Given the description of an element on the screen output the (x, y) to click on. 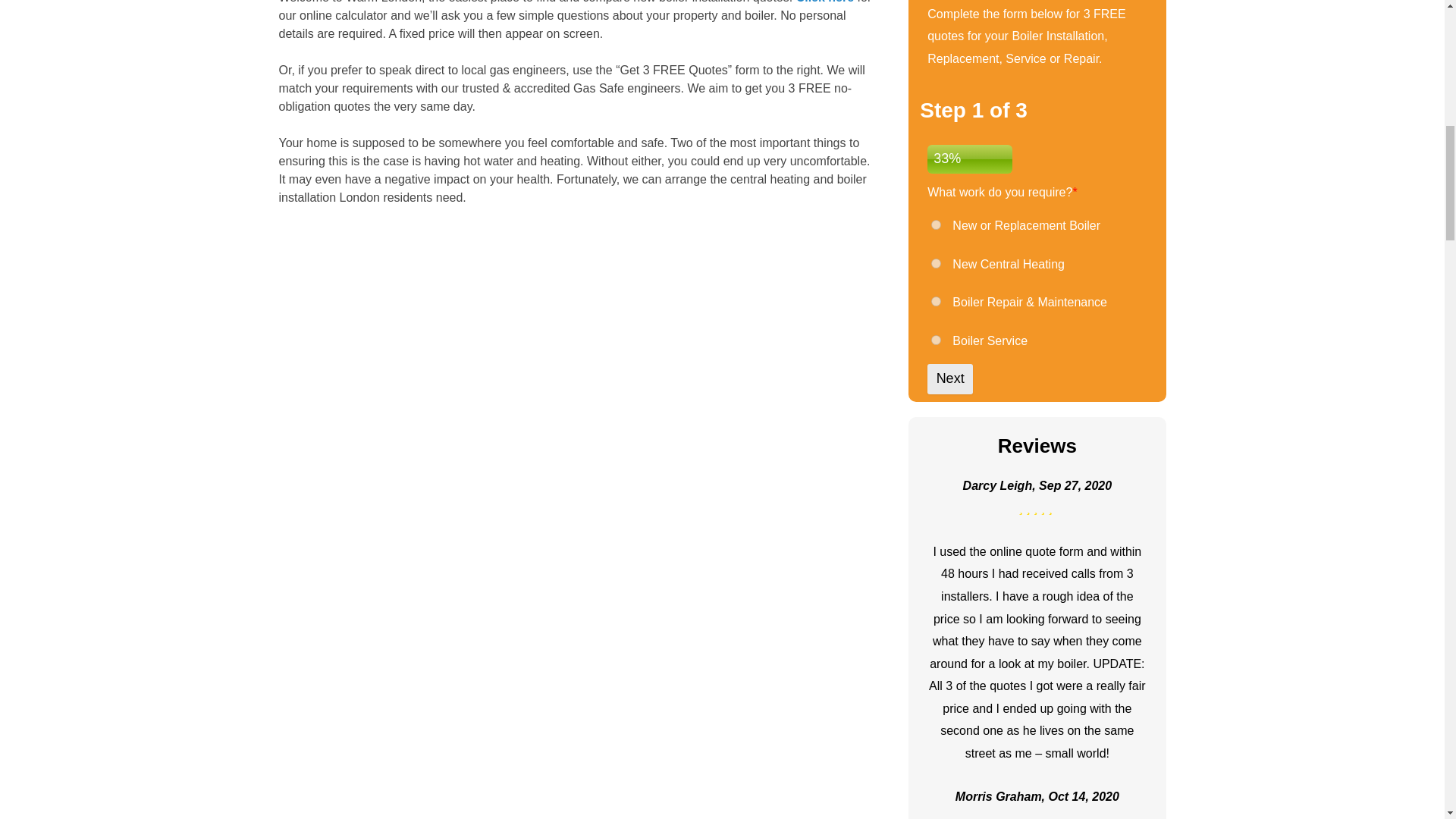
New or Replacement Boiler (935, 225)
Boiler Service (935, 339)
New Central Heating (935, 263)
Next (949, 378)
